Given the description of an element on the screen output the (x, y) to click on. 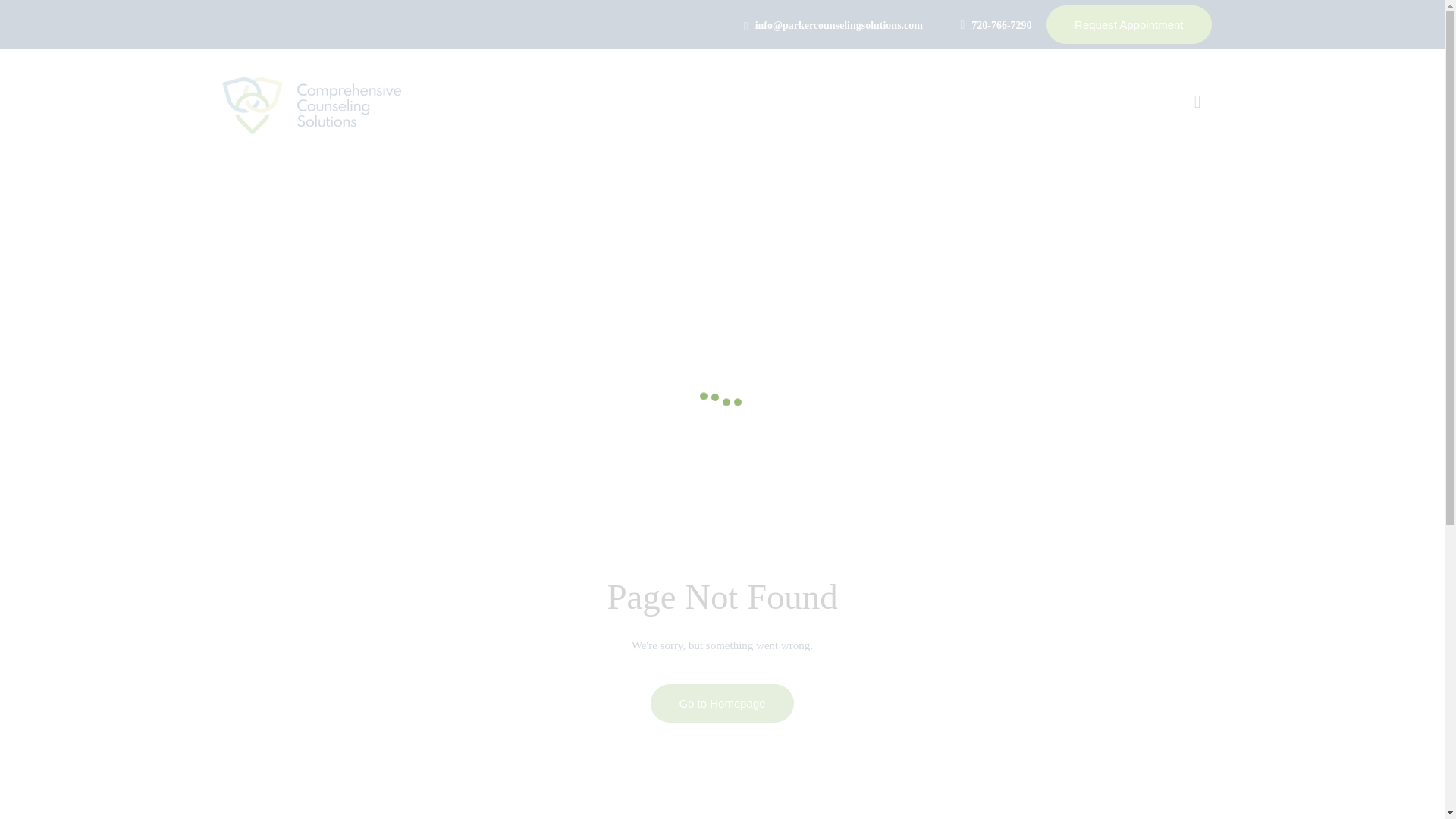
Request Appointment (1128, 24)
720-766-7290 (994, 24)
Go to Homepage (721, 702)
